Given the description of an element on the screen output the (x, y) to click on. 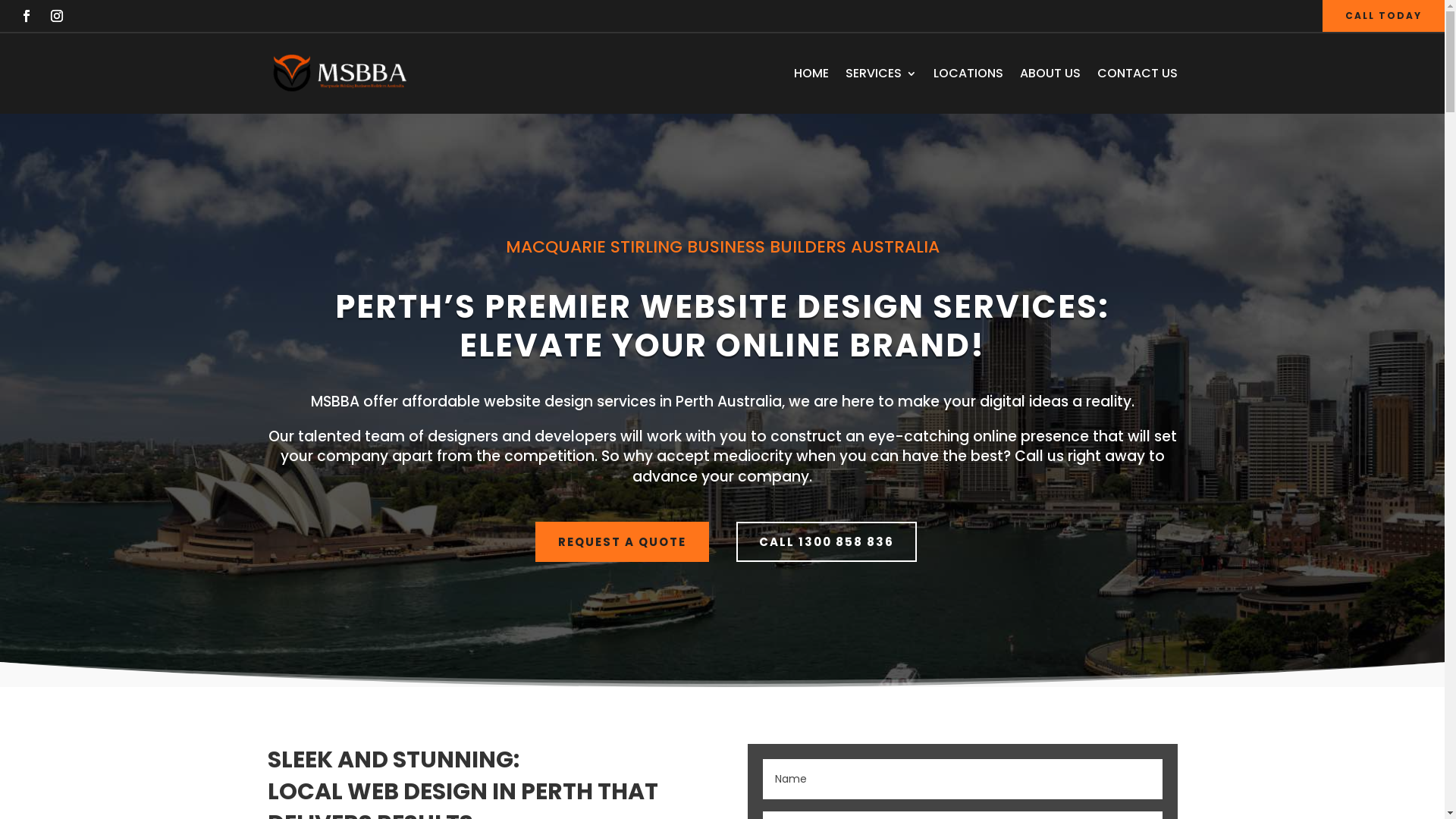
LOCATIONS Element type: text (967, 73)
Follow on Facebook Element type: hover (26, 15)
HOME Element type: text (810, 73)
ABOUT US Element type: text (1049, 73)
Follow on Instagram Element type: hover (56, 15)
CALL TODAY Element type: text (1383, 15)
SERVICES Element type: text (880, 73)
CALL 1300 858 836 Element type: text (825, 541)
REQUEST A QUOTE Element type: text (622, 541)
CONTACT US Element type: text (1136, 73)
